Given the description of an element on the screen output the (x, y) to click on. 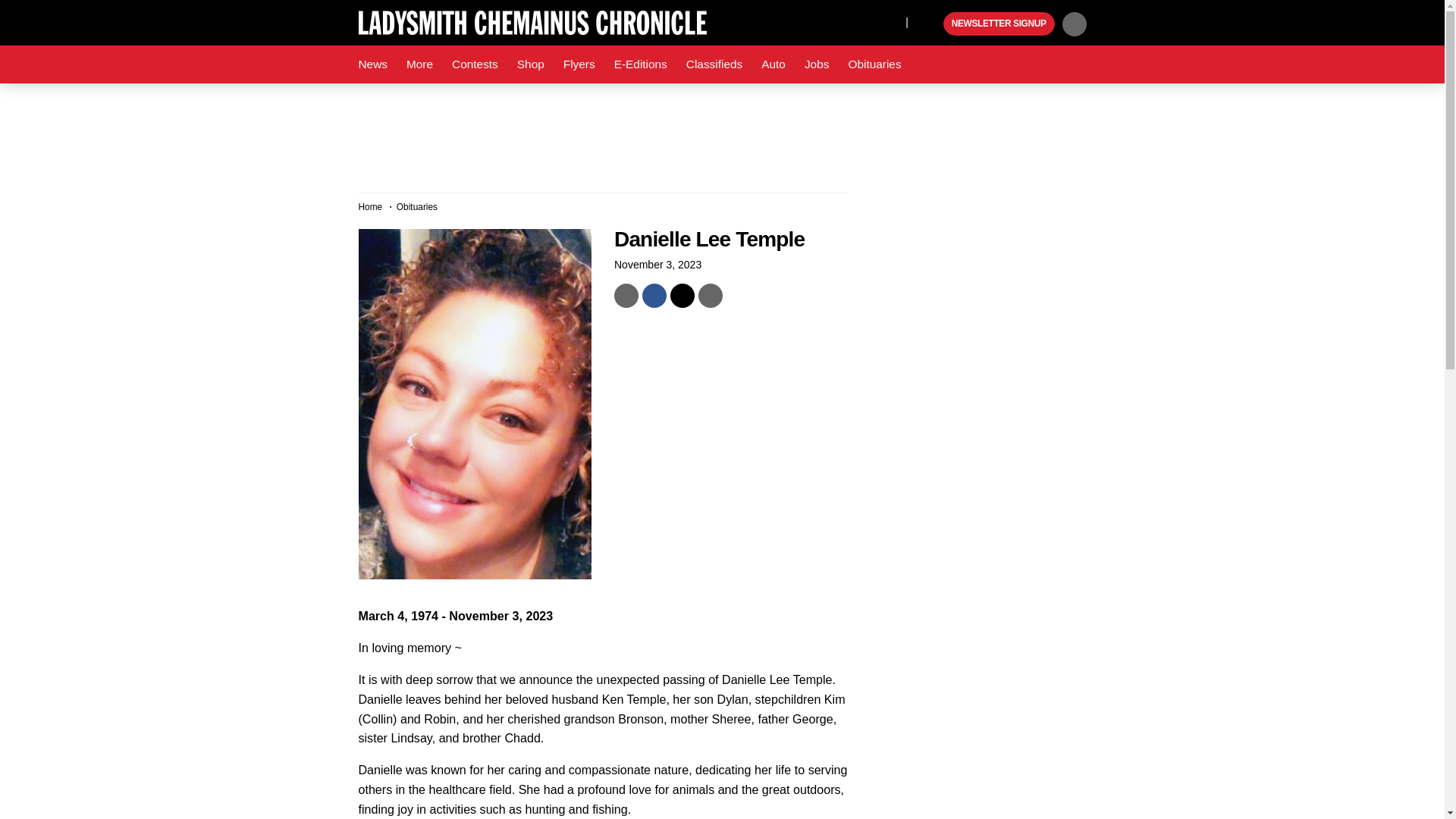
Play (929, 24)
NEWSLETTER SIGNUP (998, 24)
X (889, 21)
Black Press Media (929, 24)
News (372, 64)
